Given the description of an element on the screen output the (x, y) to click on. 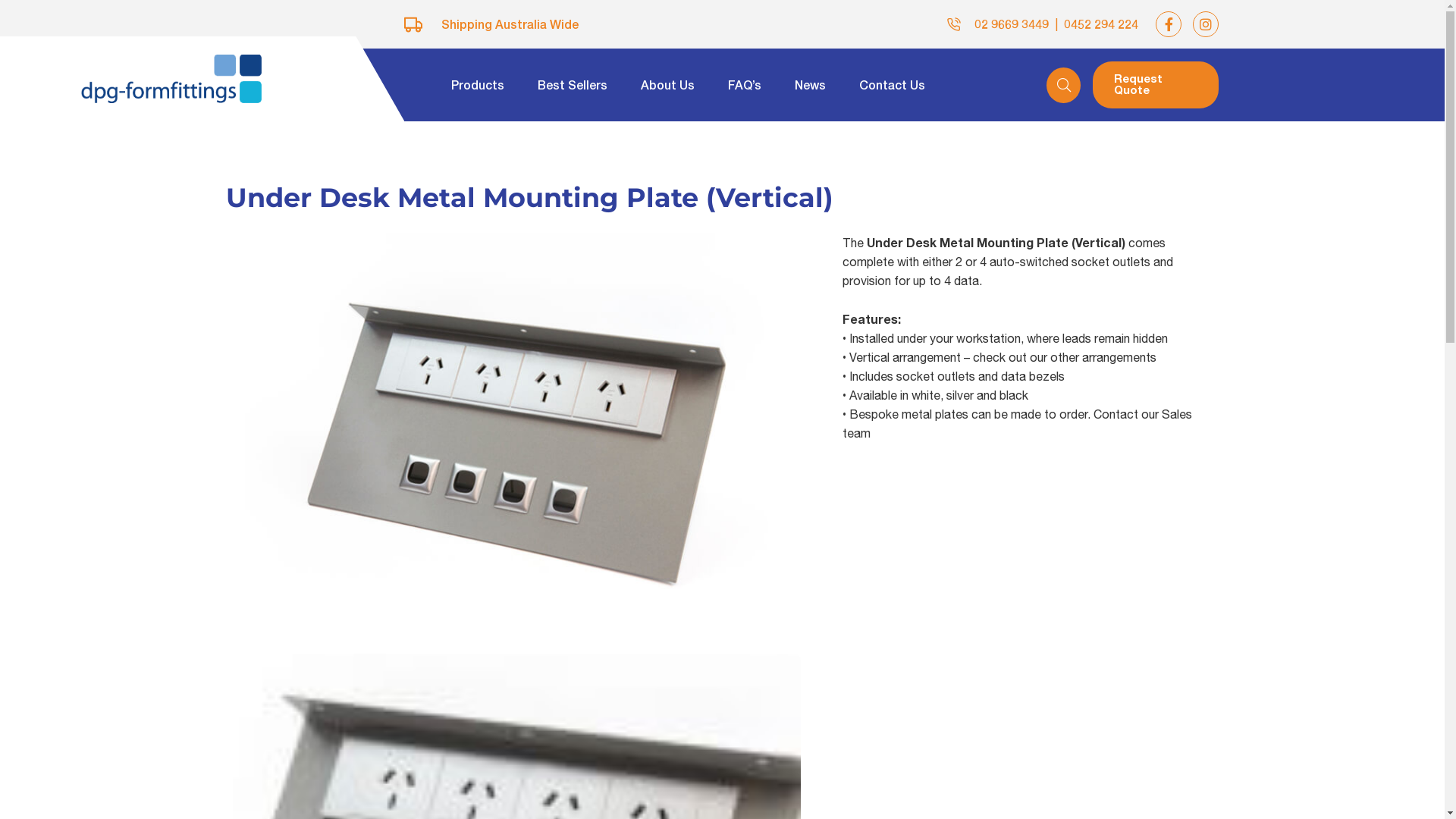
Contact Us Element type: text (892, 84)
About Us Element type: text (667, 84)
0452 294 224 Element type: text (1100, 23)
02 9669 3449 Element type: text (1011, 23)
Best Sellers Element type: text (572, 84)
News Element type: text (809, 84)
Request Quote Element type: text (1155, 84)
Products Element type: text (477, 84)
